Given the description of an element on the screen output the (x, y) to click on. 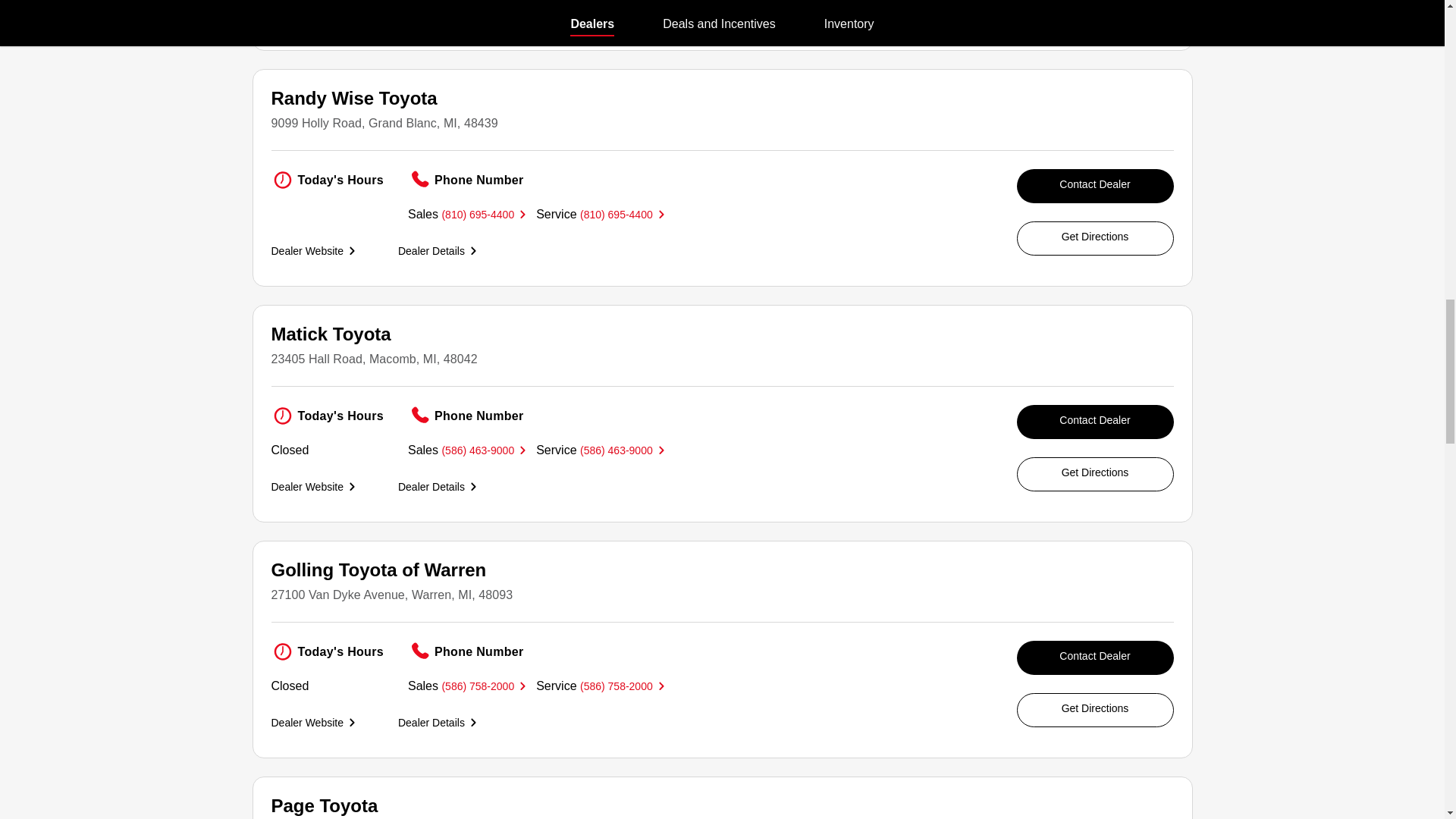
Get Directions (1094, 9)
Get Directions (1094, 238)
Get Directions (1094, 709)
Dealer Details (437, 722)
Dealer Details (437, 486)
Dealer Website (312, 14)
Dealer Details (437, 14)
Dealer Details (437, 250)
Get Directions (1094, 474)
Dealer Website (312, 722)
Contact Dealer (1094, 185)
Contact Dealer (1094, 421)
Dealer Website (312, 250)
Contact Dealer (1094, 657)
Dealer Website (312, 486)
